Given the description of an element on the screen output the (x, y) to click on. 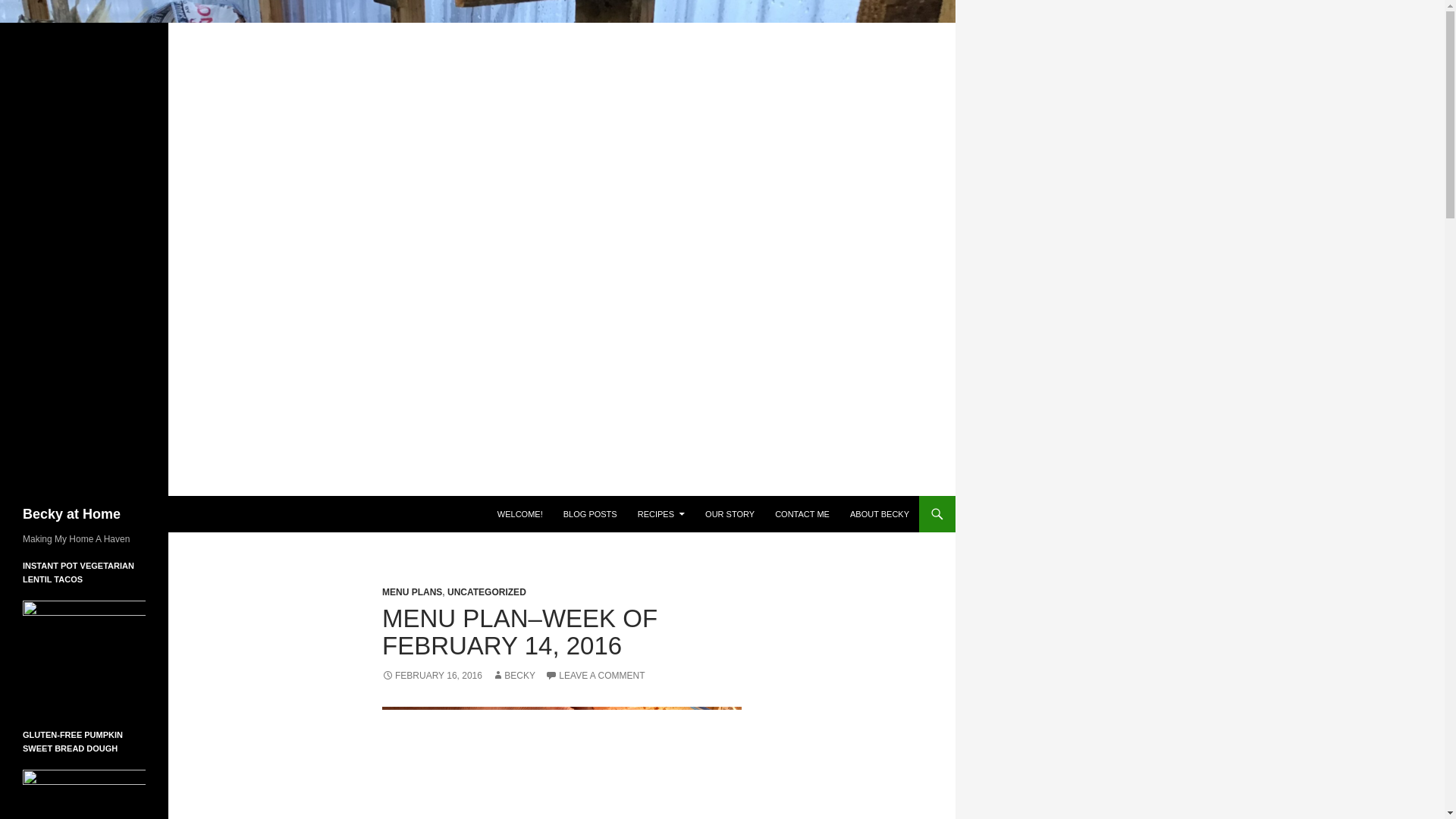
MENU PLANS (411, 592)
WELCOME! (519, 514)
BECKY (513, 675)
ABOUT BECKY (879, 514)
UNCATEGORIZED (485, 592)
BLOG POSTS (590, 514)
CONTACT ME (801, 514)
OUR STORY (728, 514)
LEAVE A COMMENT (594, 675)
FEBRUARY 16, 2016 (431, 675)
Becky at Home (71, 514)
RECIPES (661, 514)
